Given the description of an element on the screen output the (x, y) to click on. 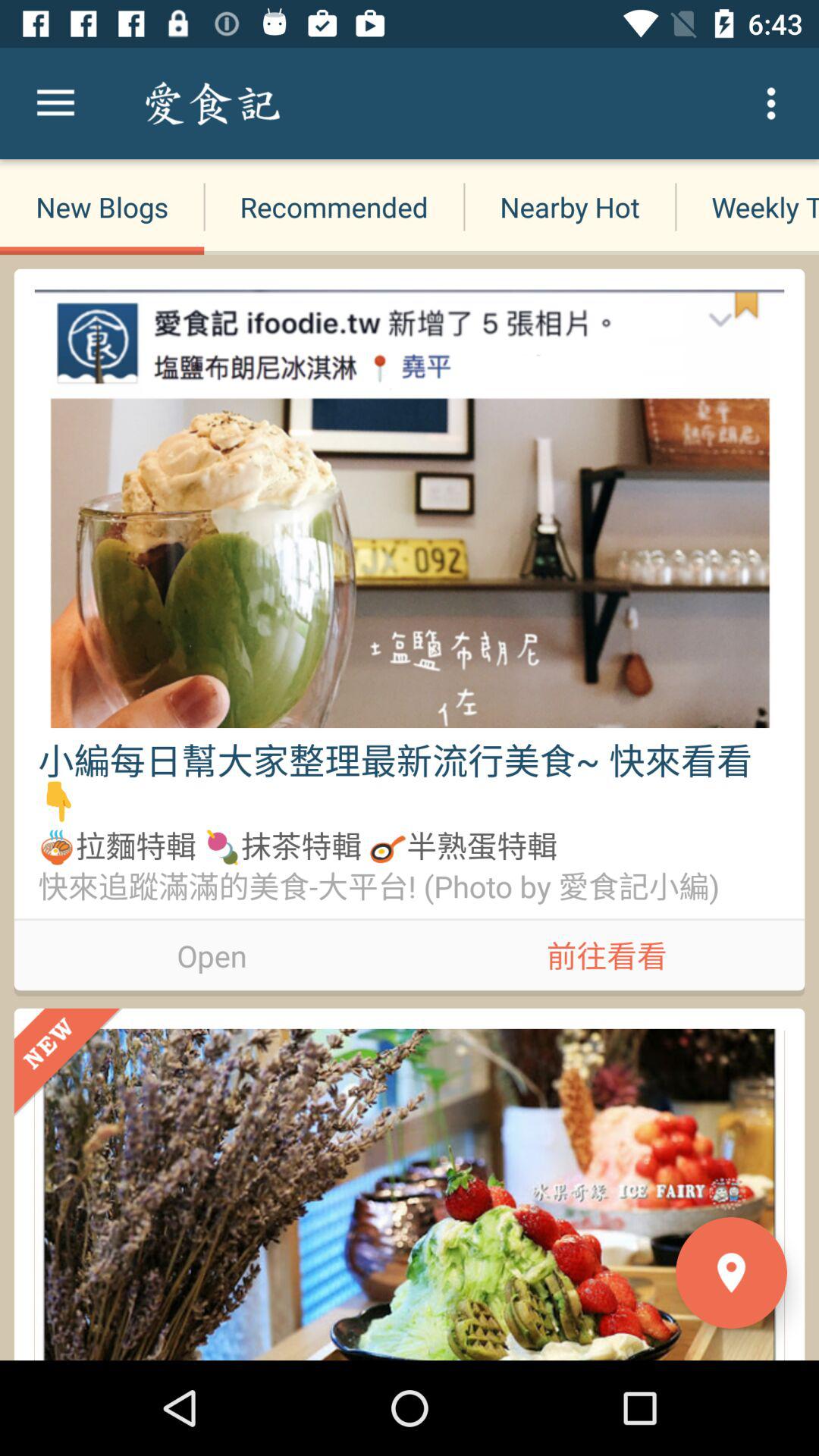
select icon to the right of the new blogs (334, 206)
